Given the description of an element on the screen output the (x, y) to click on. 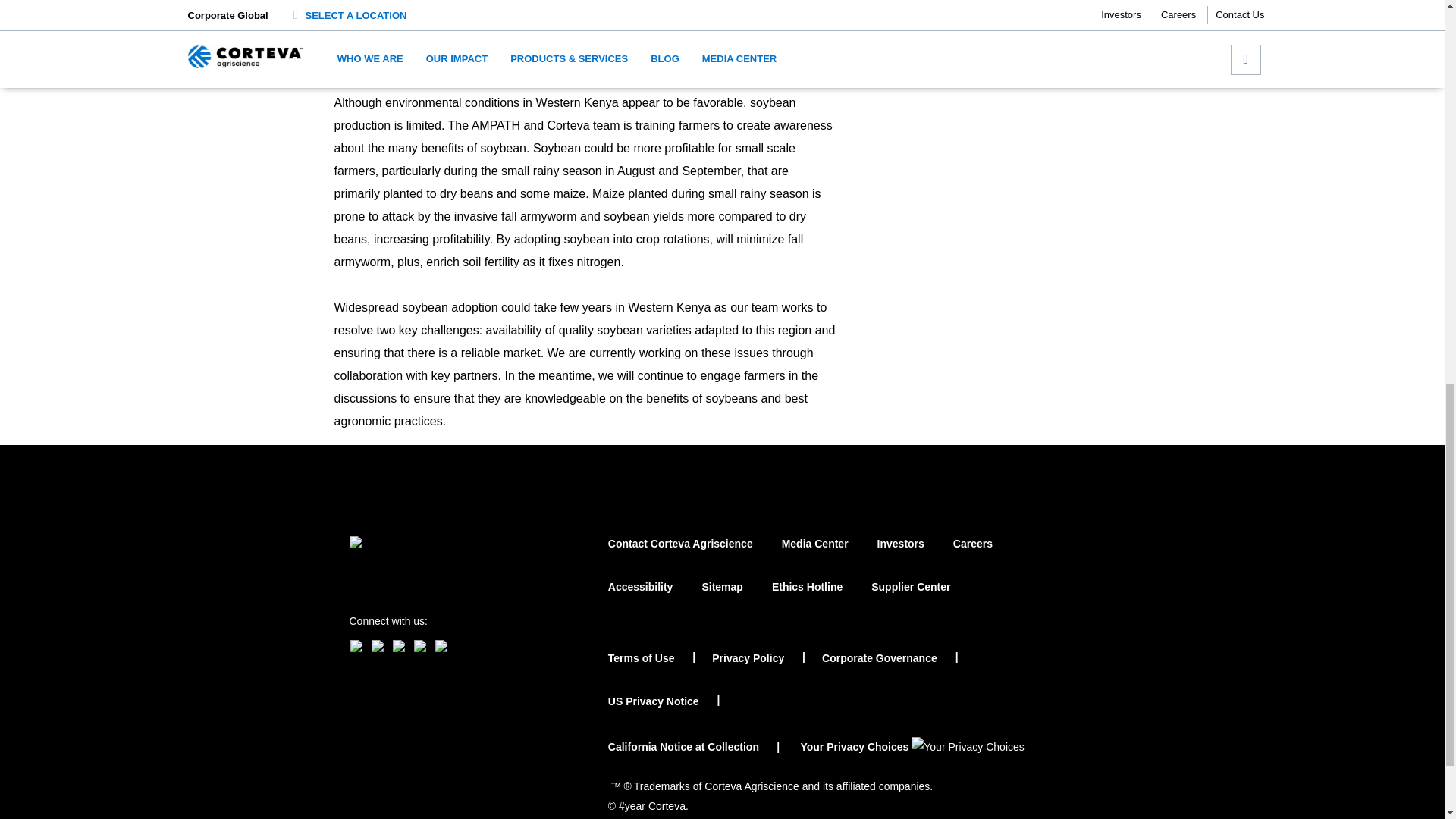
Sitemap (721, 600)
Supplier Center (910, 600)
Accessibility (640, 600)
Contact Corteva Agriscience (680, 557)
Investors (900, 557)
Terms of Use (651, 658)
Careers (972, 557)
Media Center (814, 557)
Ethics Hotline (807, 600)
Privacy Policy (758, 658)
